Given the description of an element on the screen output the (x, y) to click on. 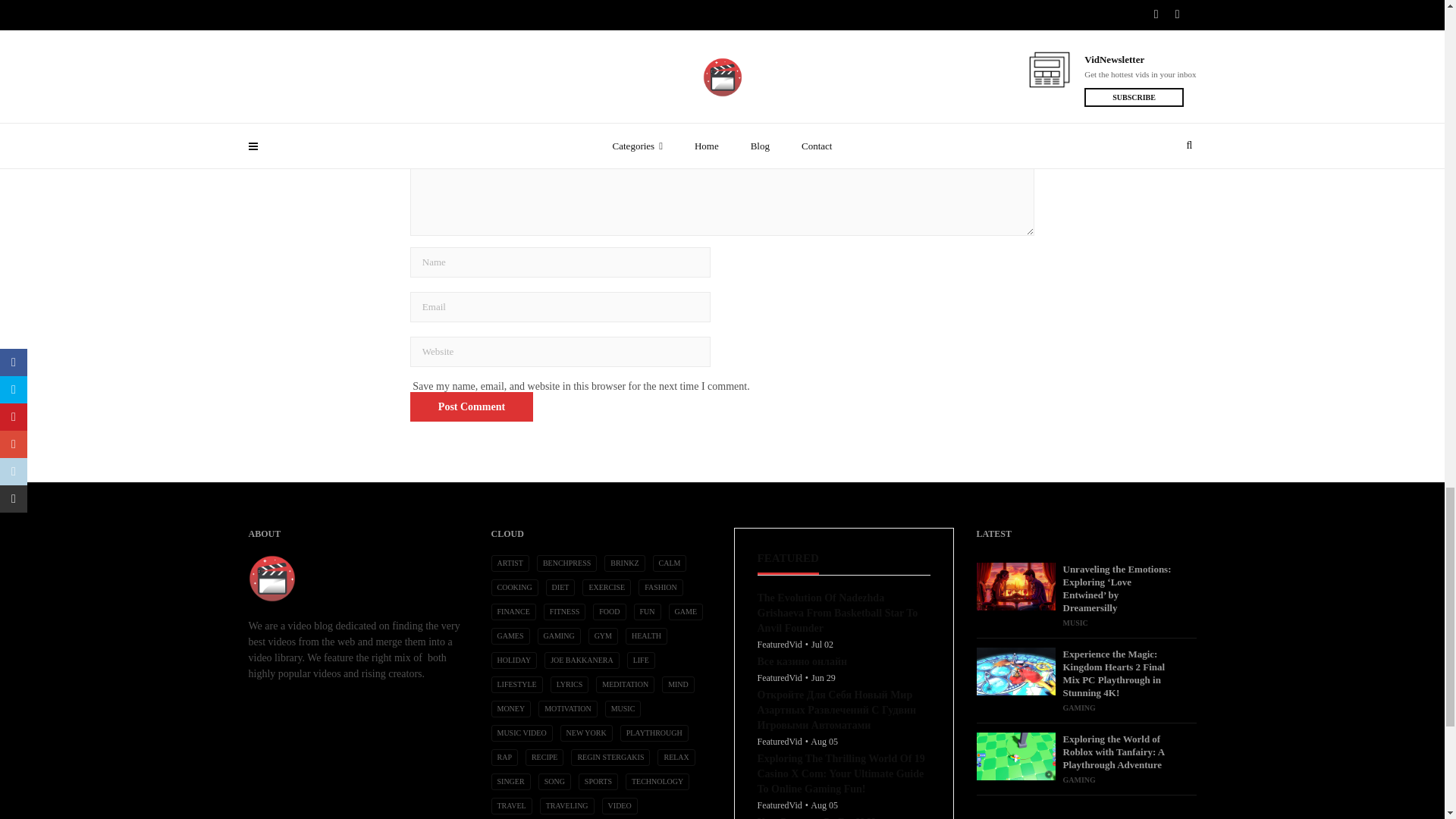
Post Comment (471, 406)
